Given the description of an element on the screen output the (x, y) to click on. 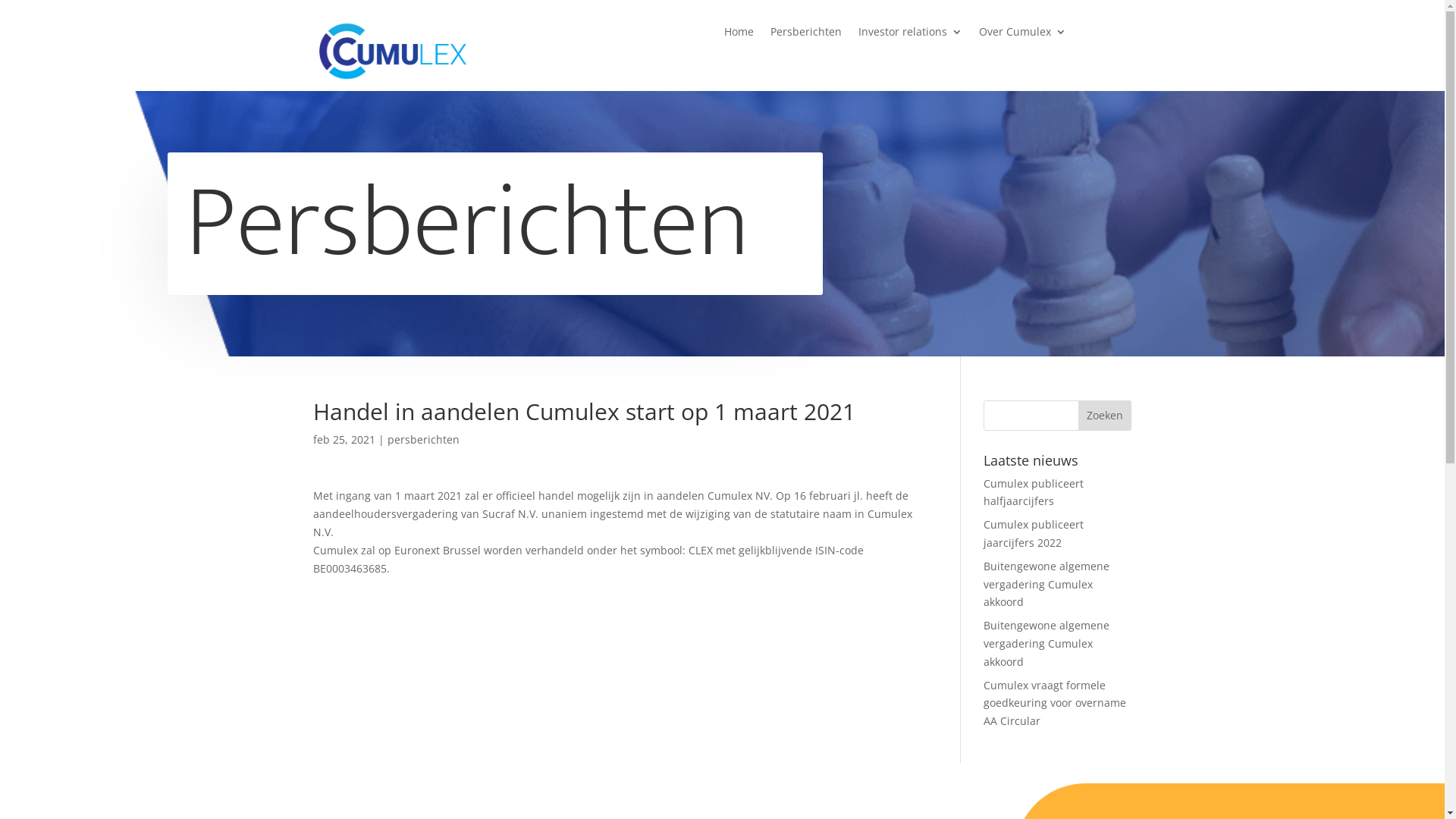
Cumulex publiceert halfjaarcijfers Element type: text (1033, 492)
Cumulex publiceert jaarcijfers 2022 Element type: text (1033, 533)
cumulex_logo Element type: hover (391, 50)
Zoeken Element type: text (1104, 415)
Over Cumulex Element type: text (1022, 34)
Investor relations Element type: text (910, 34)
Persberichten Element type: text (805, 34)
Buitengewone algemene vergadering Cumulex akkoord Element type: text (1046, 583)
persberichten Element type: text (422, 439)
Cumulex vraagt formele goedkeuring voor overname AA Circular Element type: text (1054, 702)
Home Element type: text (738, 34)
Buitengewone algemene vergadering Cumulex akkoord Element type: text (1046, 643)
